Given the description of an element on the screen output the (x, y) to click on. 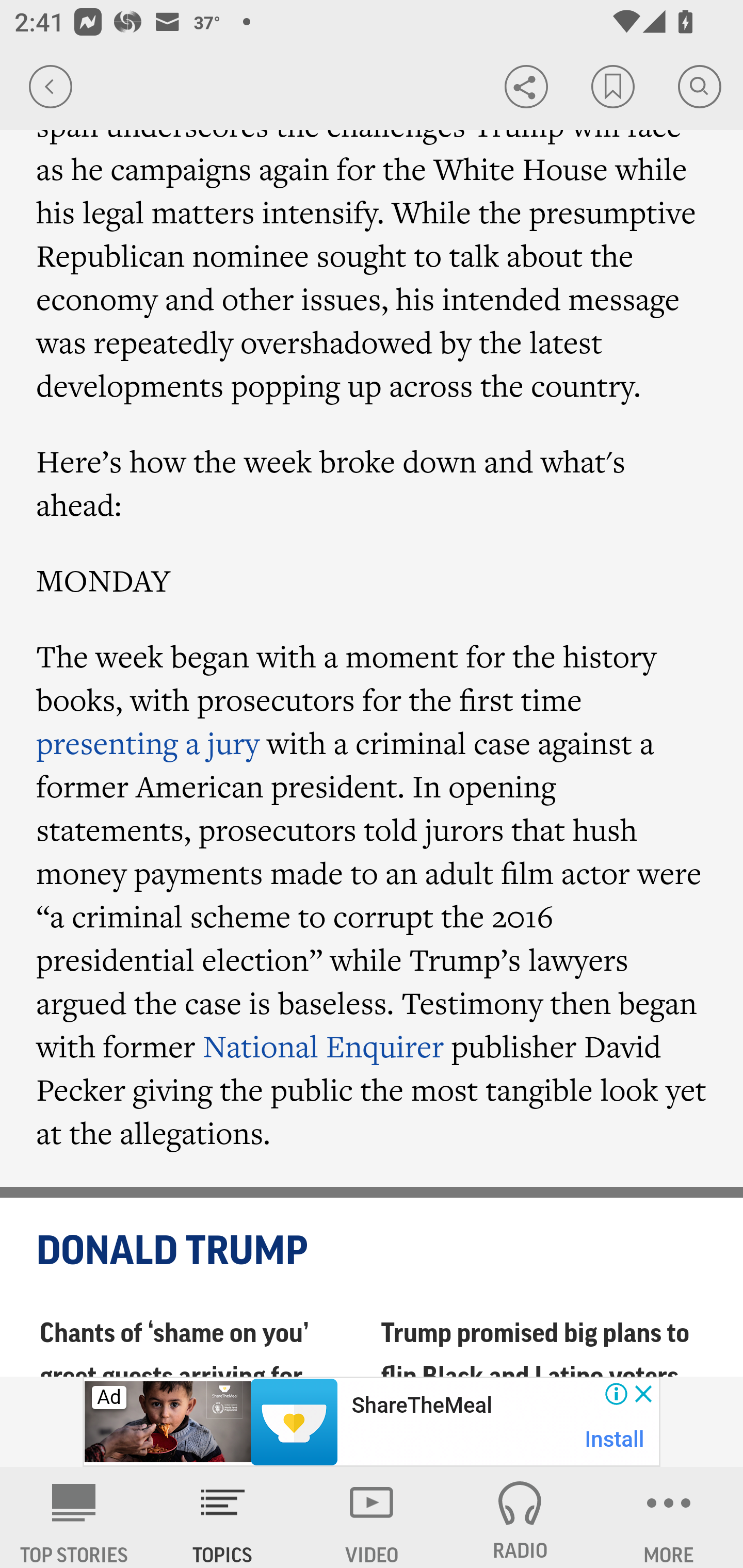
presenting a jury (148, 743)
National Enquirer (323, 1046)
DONALD TRUMP (372, 1251)
ShareTheMeal (420, 1405)
Install (614, 1438)
AP News TOP STORIES (74, 1517)
TOPICS (222, 1517)
VIDEO (371, 1517)
RADIO (519, 1517)
MORE (668, 1517)
